Given the description of an element on the screen output the (x, y) to click on. 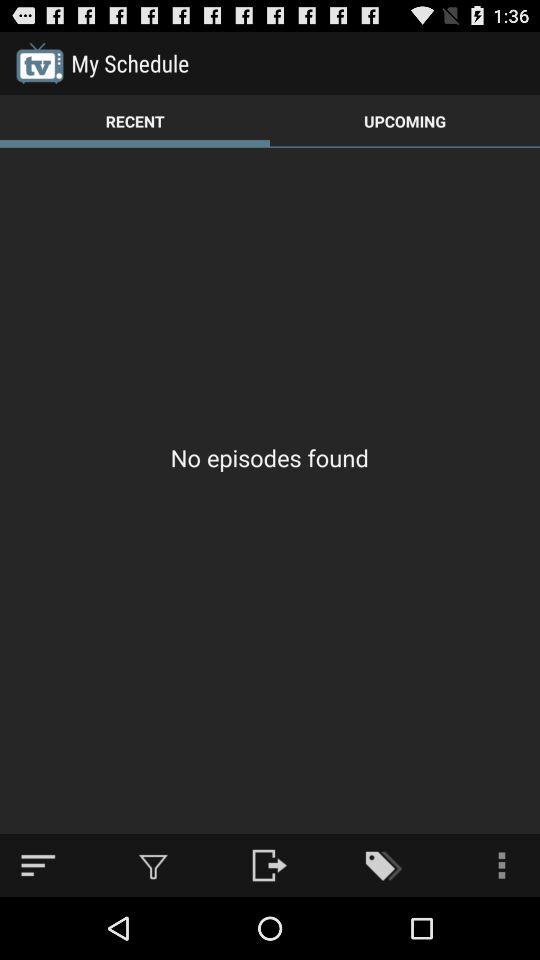
open the icon above no episodes found app (135, 120)
